Given the description of an element on the screen output the (x, y) to click on. 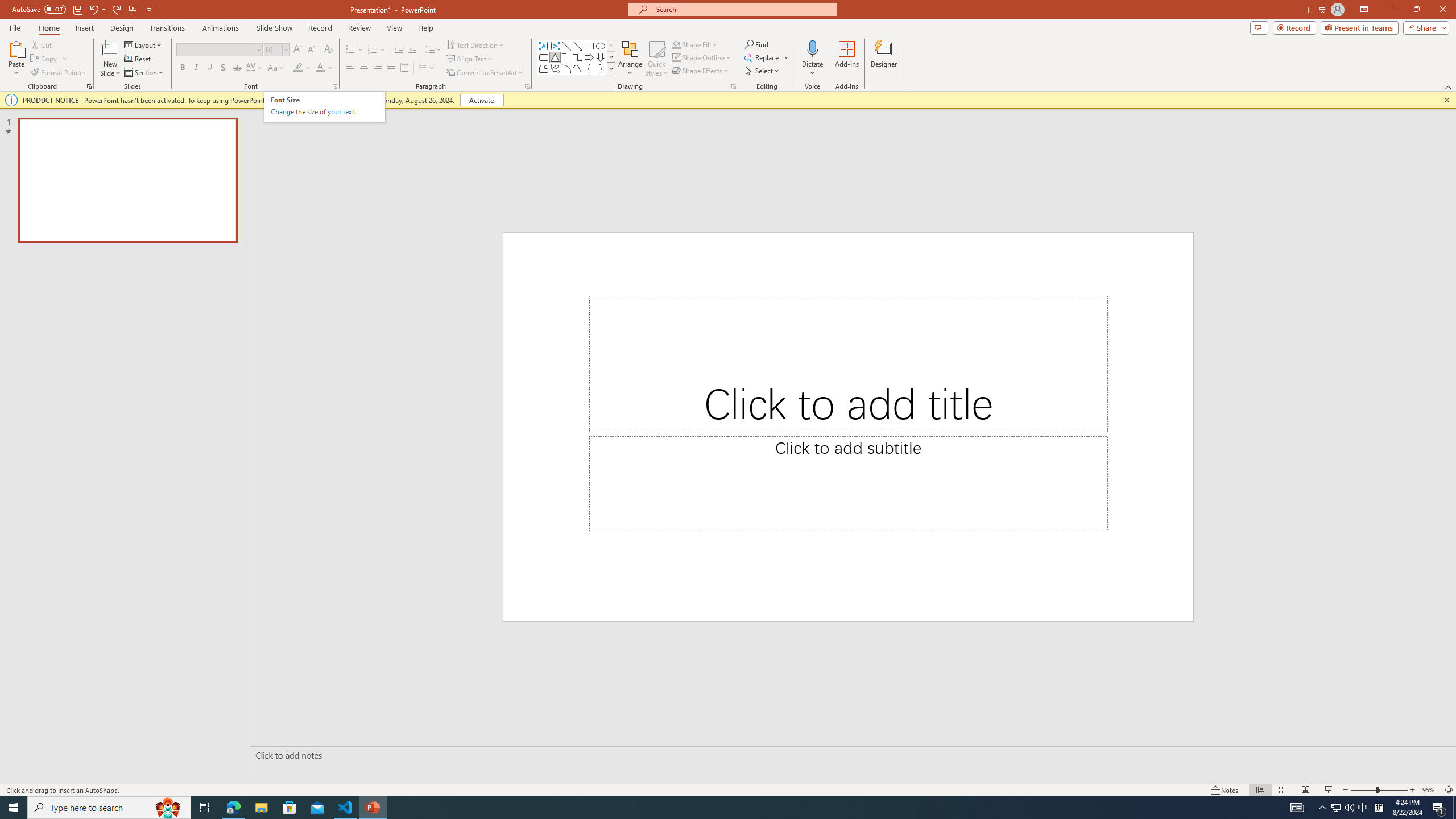
2403.02502v1.pdf (1340, 102)
2401.17399v1.pdf (1340, 26)
test.py (163, 632)
Bring Forward (763, 77)
Microsoft search (749, 18)
Indent Left (488, 91)
(CVPR24)Matching Anything by Segmenting Anything.pdf (1275, 184)
